Given the description of an element on the screen output the (x, y) to click on. 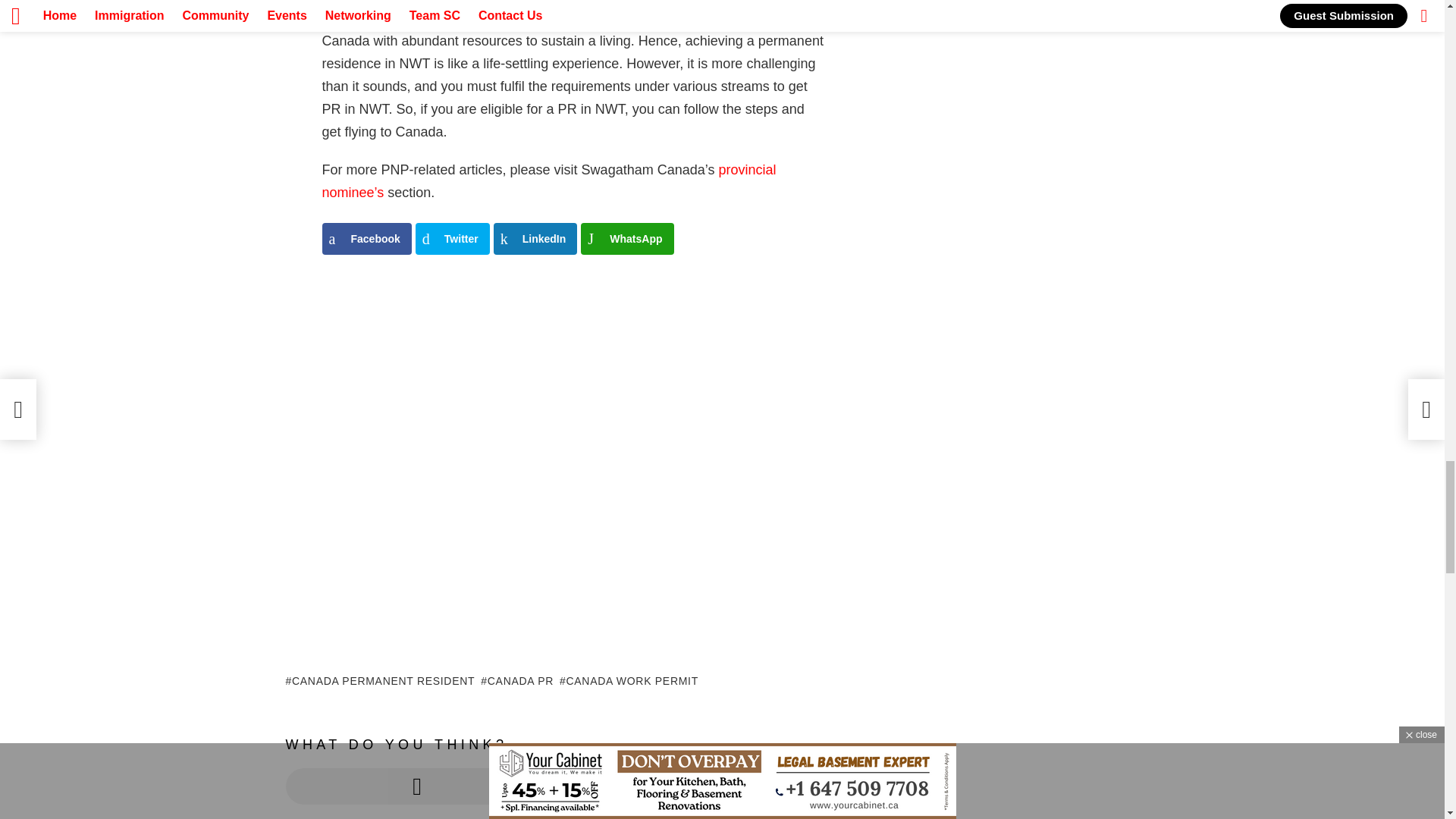
Share on Twitter (451, 238)
Share on LinkedIn (535, 238)
Share on Facebook (365, 238)
